Given the description of an element on the screen output the (x, y) to click on. 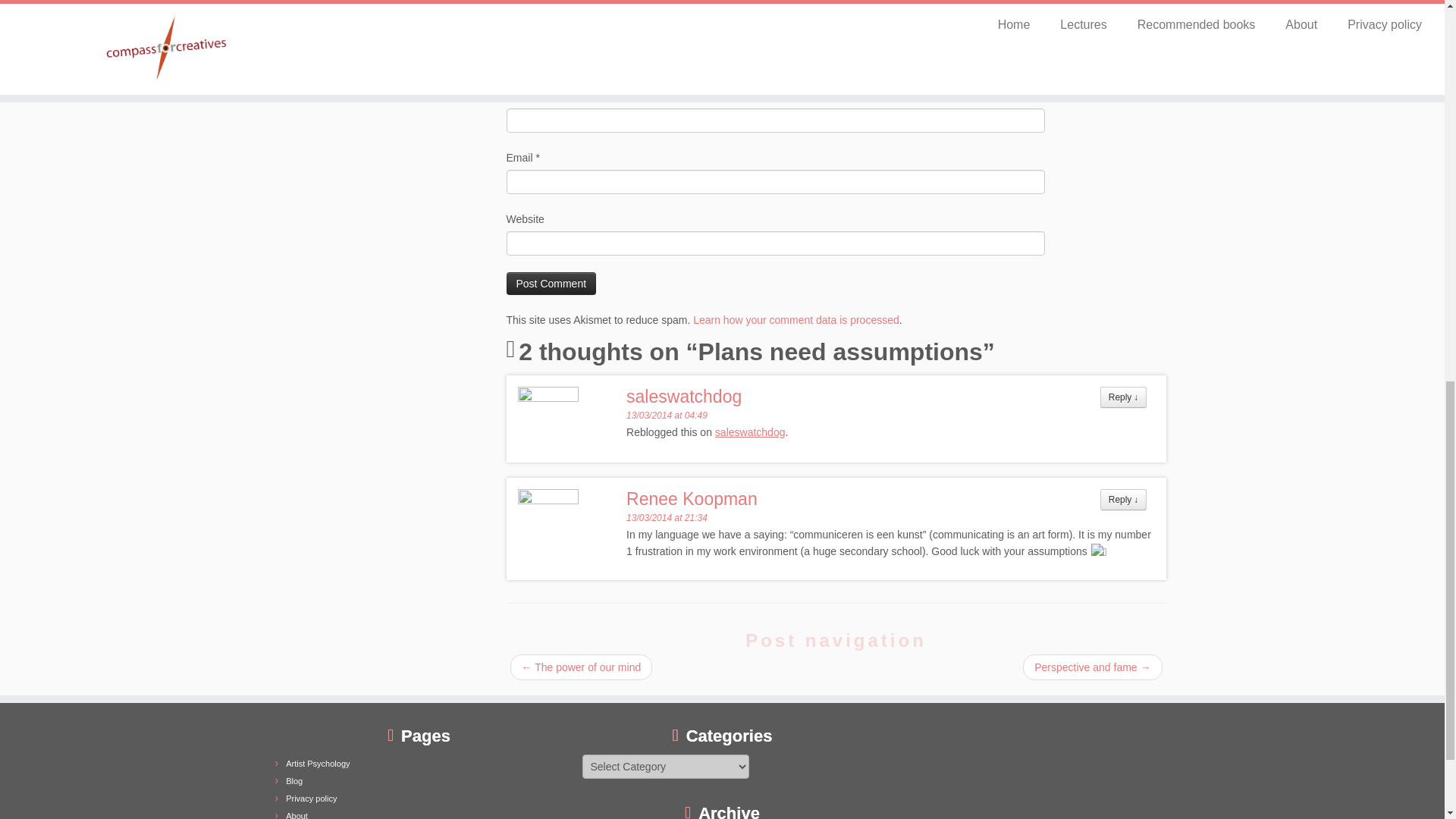
Post Comment (551, 282)
